Given the description of an element on the screen output the (x, y) to click on. 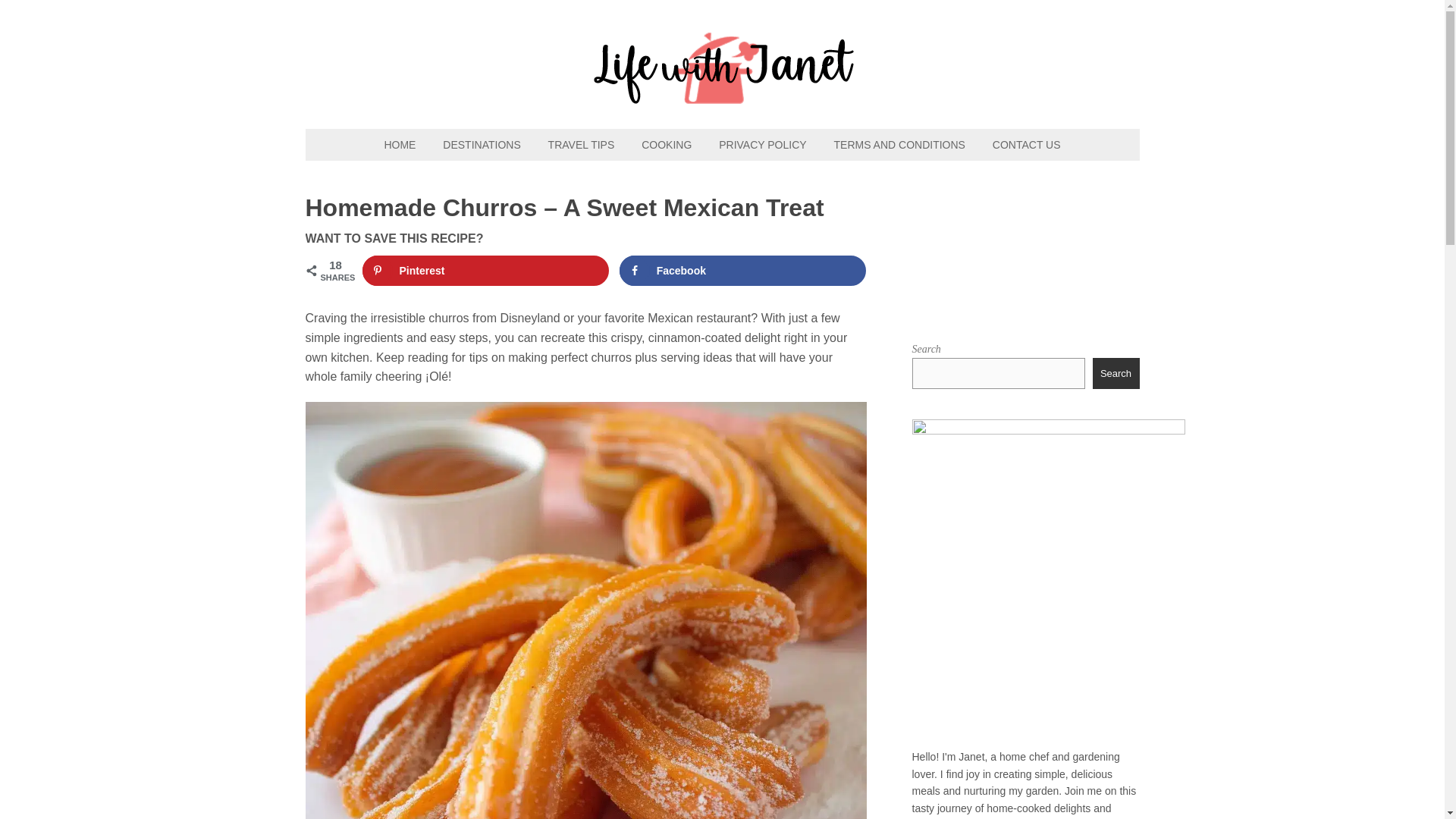
Share on Facebook (743, 270)
TRAVEL TIPS (581, 144)
COOKING (665, 144)
HOME (399, 144)
TERMS AND CONDITIONS (899, 144)
Pinterest (486, 270)
Save to Pinterest (486, 270)
CONTACT US (1026, 144)
Search (1116, 372)
PRIVACY POLICY (762, 144)
DESTINATIONS (481, 144)
Life with Janet (721, 95)
Facebook (743, 270)
